Given the description of an element on the screen output the (x, y) to click on. 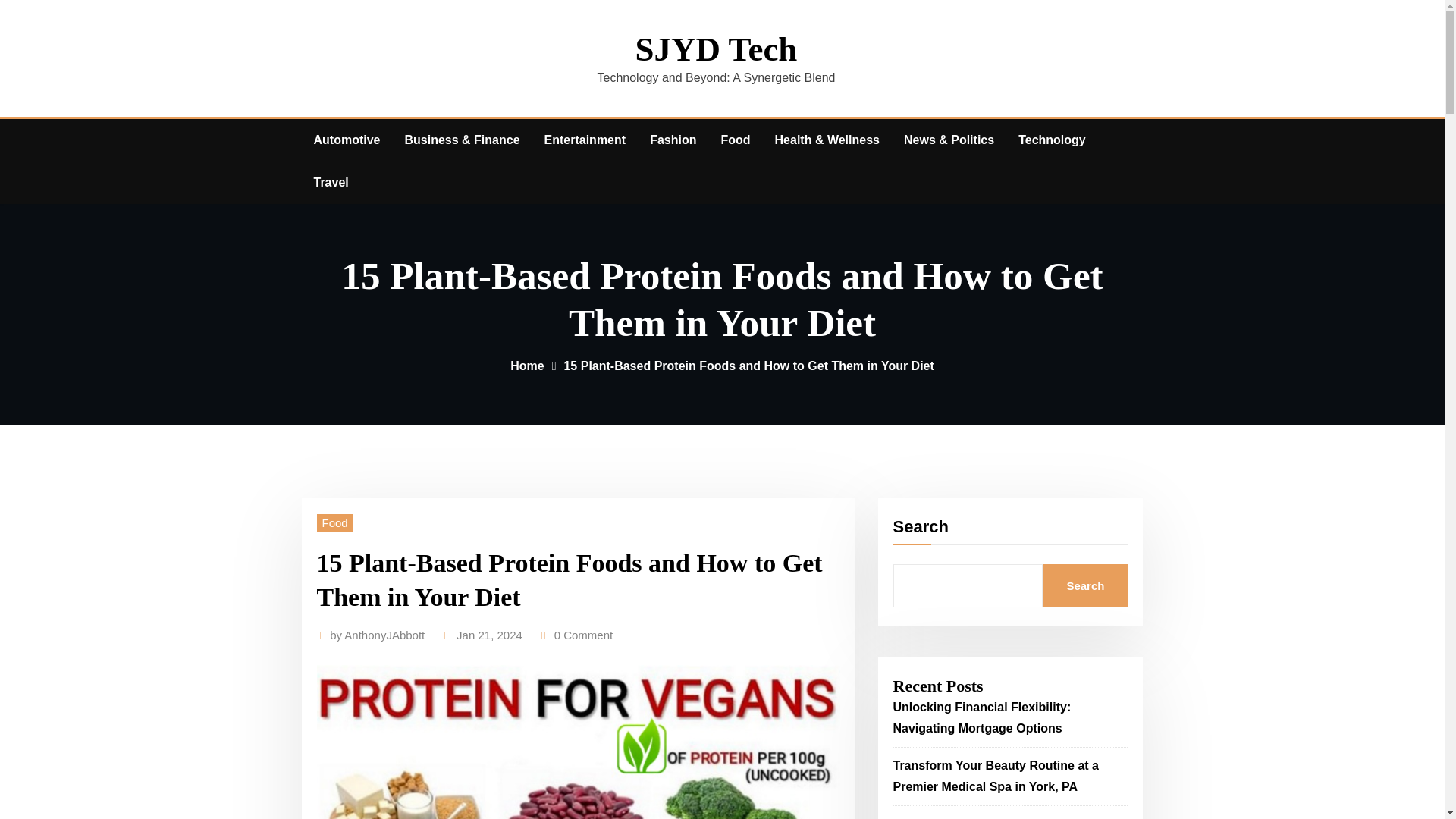
Home (527, 365)
by AnthonyJAbbott (377, 635)
Search (1084, 585)
Jan 21, 2024 (489, 635)
Fashion (672, 139)
Entertainment (585, 139)
Unlocking Financial Flexibility: Navigating Mortgage Options (982, 717)
